Given the description of an element on the screen output the (x, y) to click on. 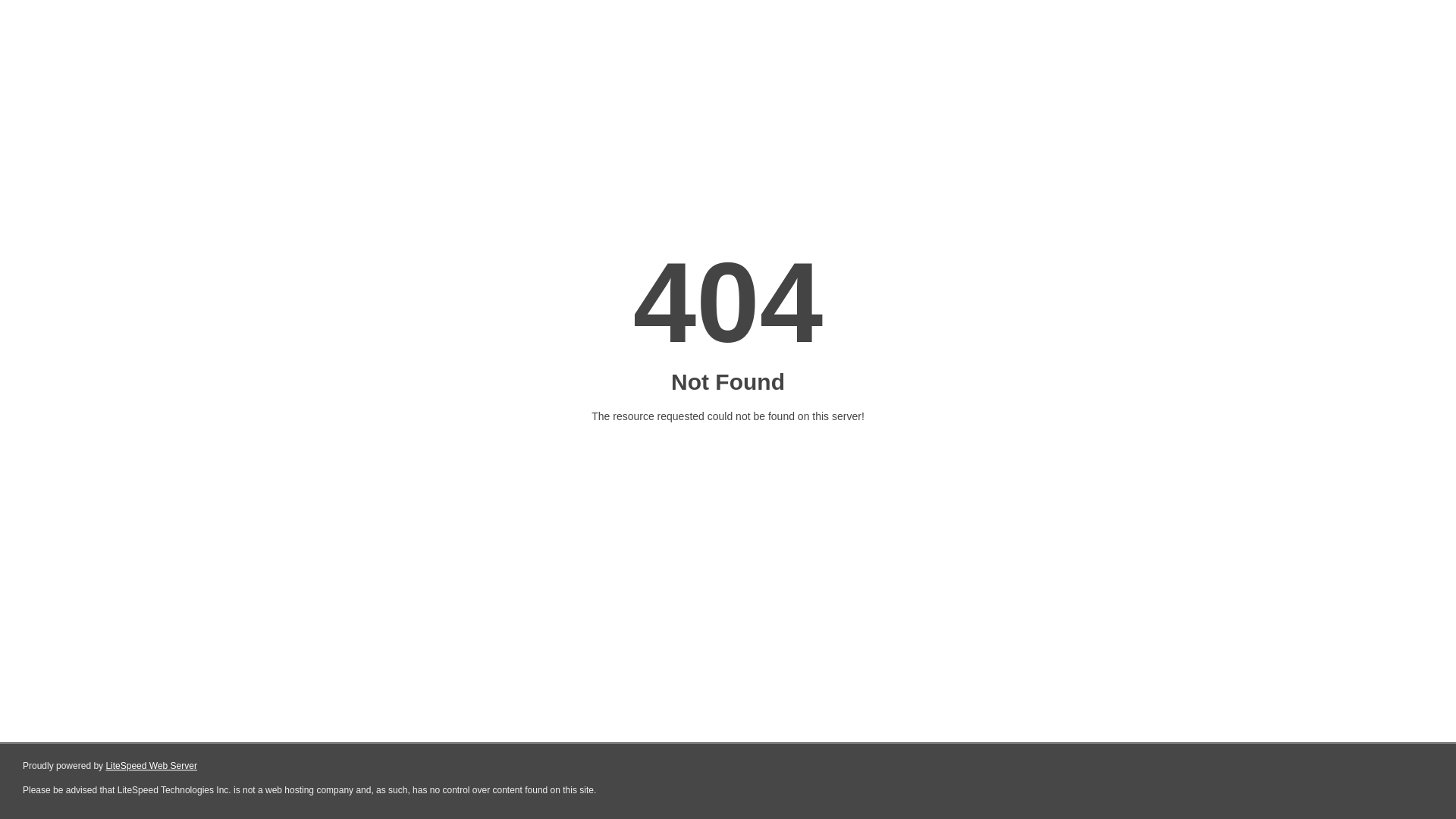
LiteSpeed Web Server Element type: text (151, 765)
